Given the description of an element on the screen output the (x, y) to click on. 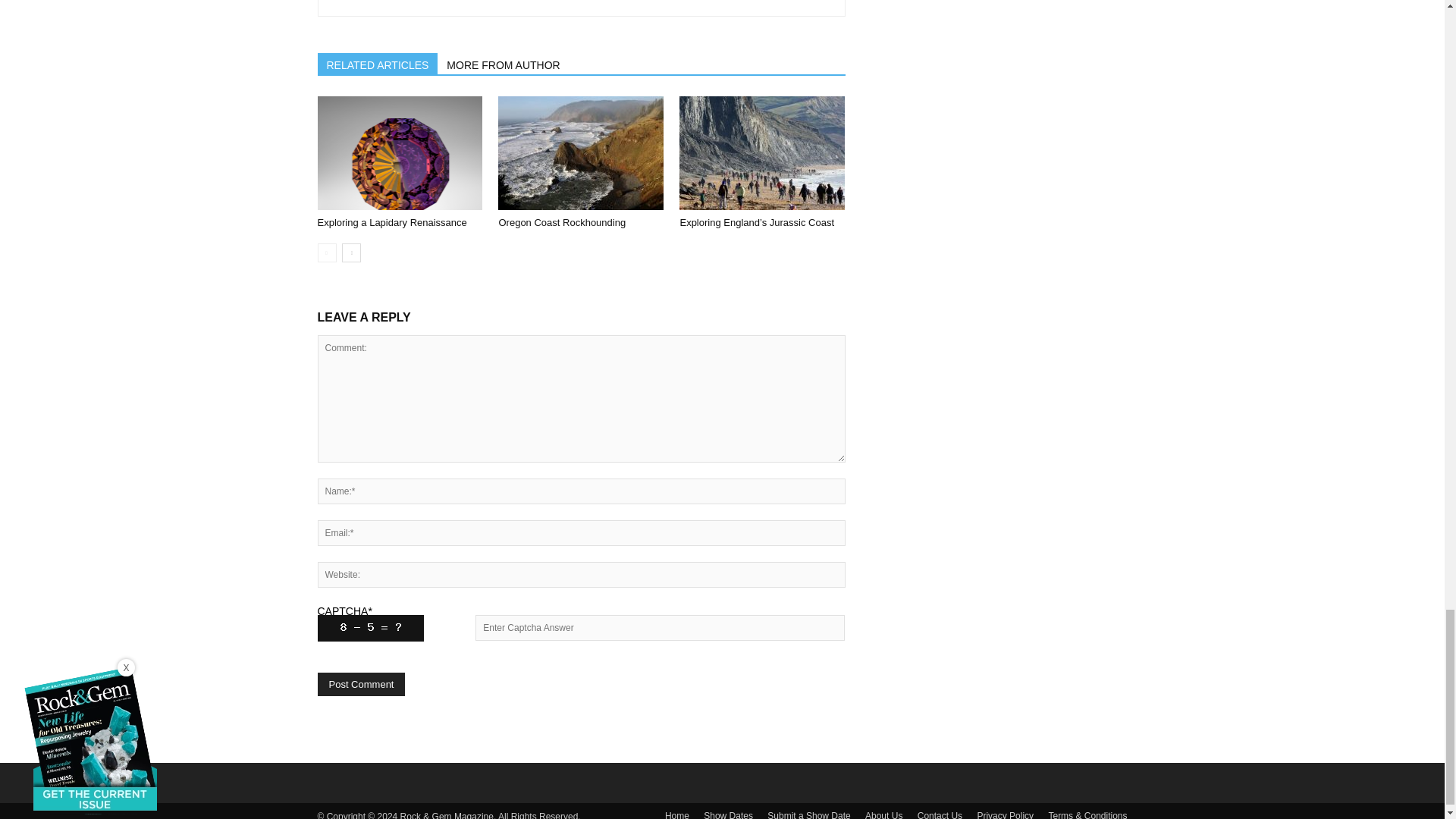
Post Comment (360, 684)
